Given the description of an element on the screen output the (x, y) to click on. 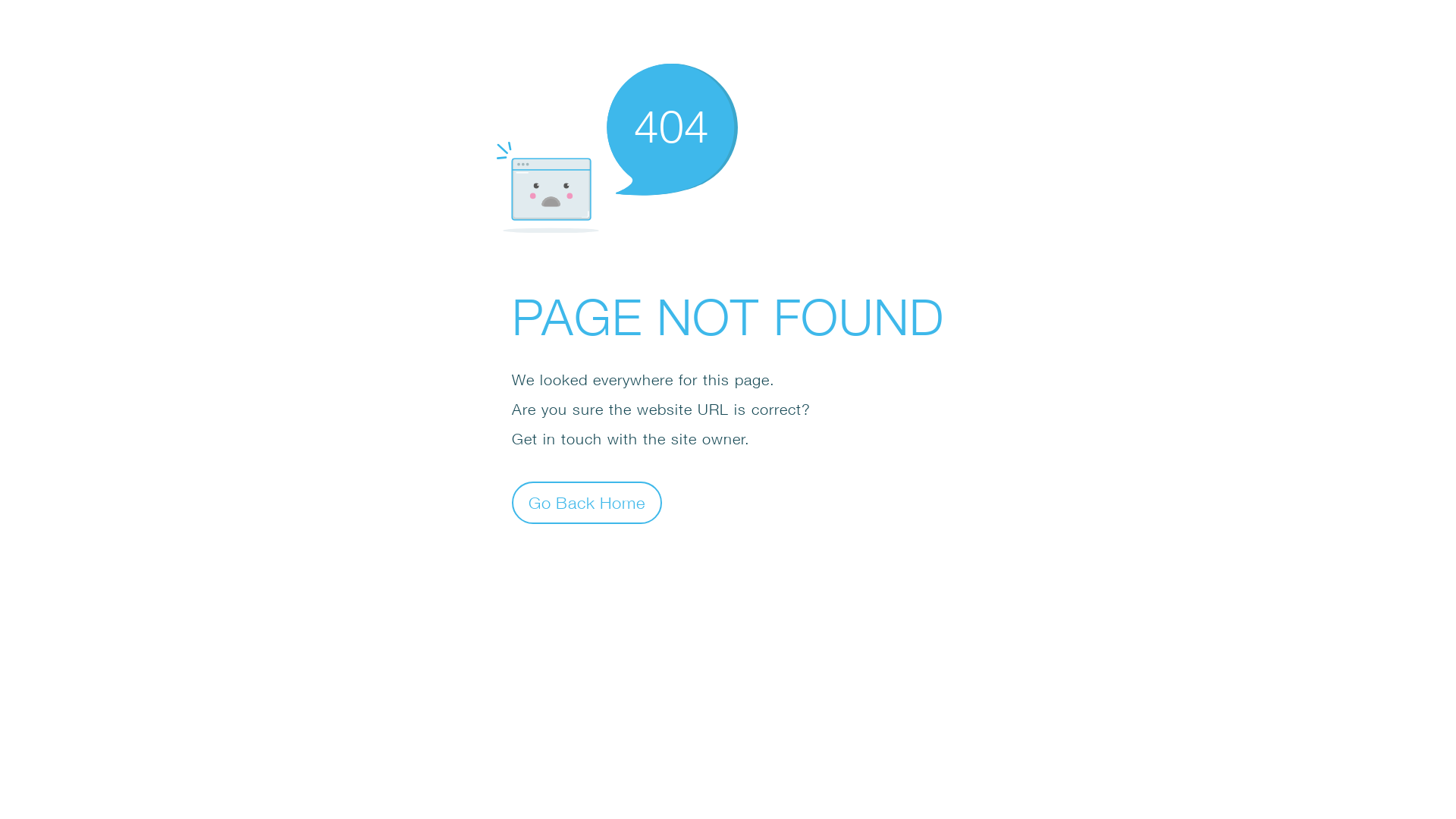
Go Back Home Element type: text (586, 502)
